Given the description of an element on the screen output the (x, y) to click on. 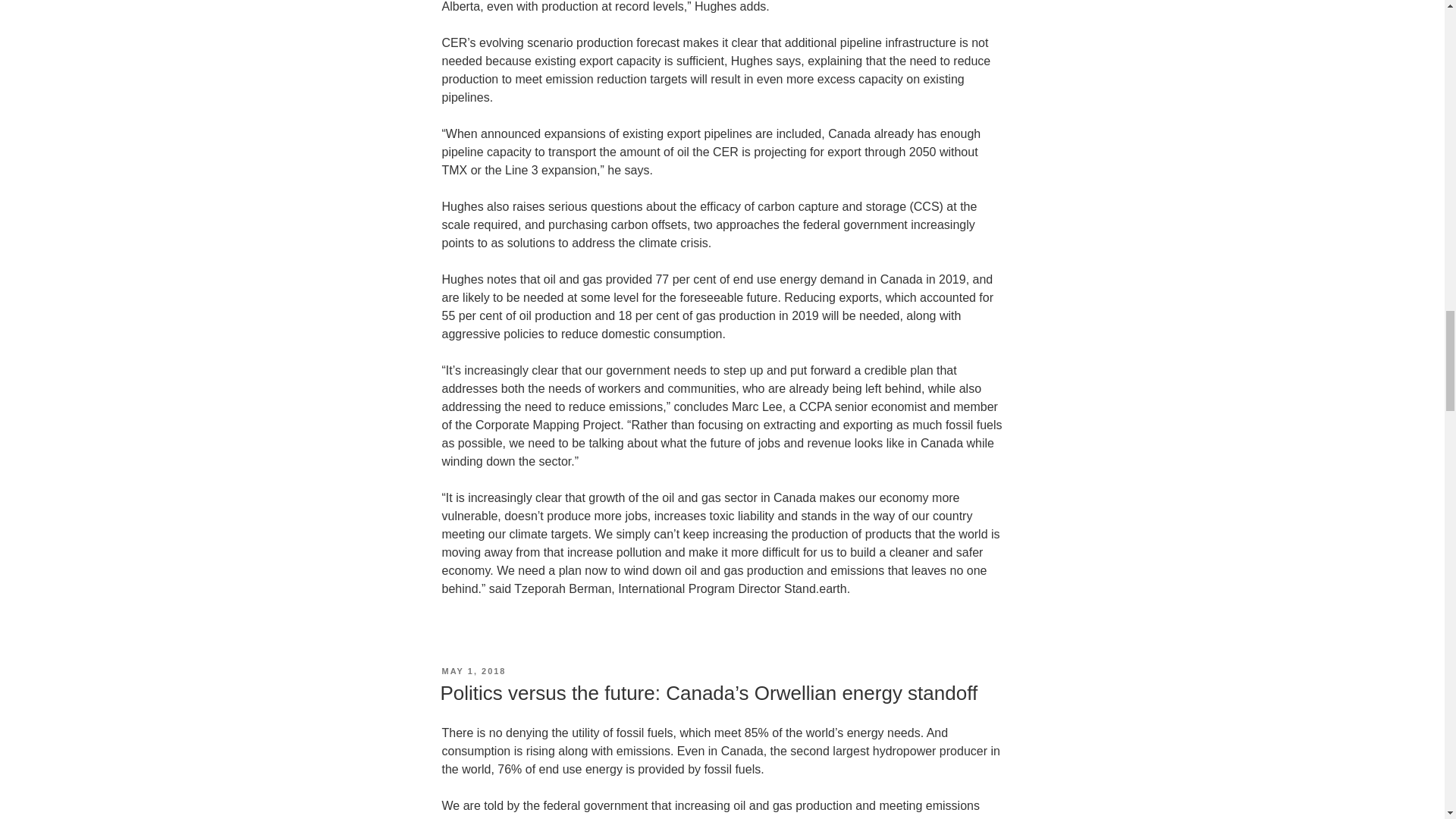
MAY 1, 2018 (473, 670)
